Given the description of an element on the screen output the (x, y) to click on. 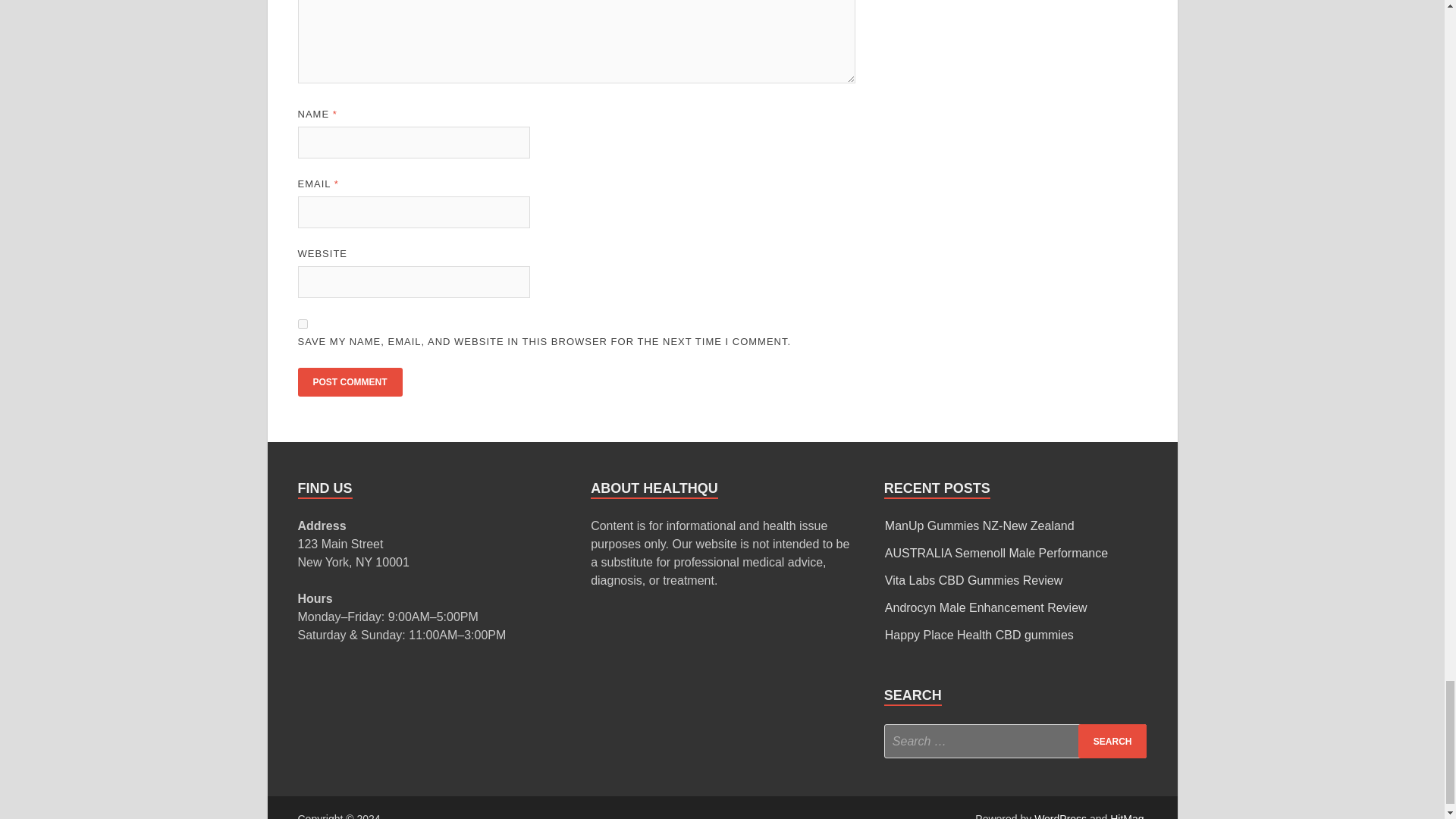
Post Comment (349, 381)
yes (302, 324)
Search (1112, 740)
Search (1112, 740)
